Given the description of an element on the screen output the (x, y) to click on. 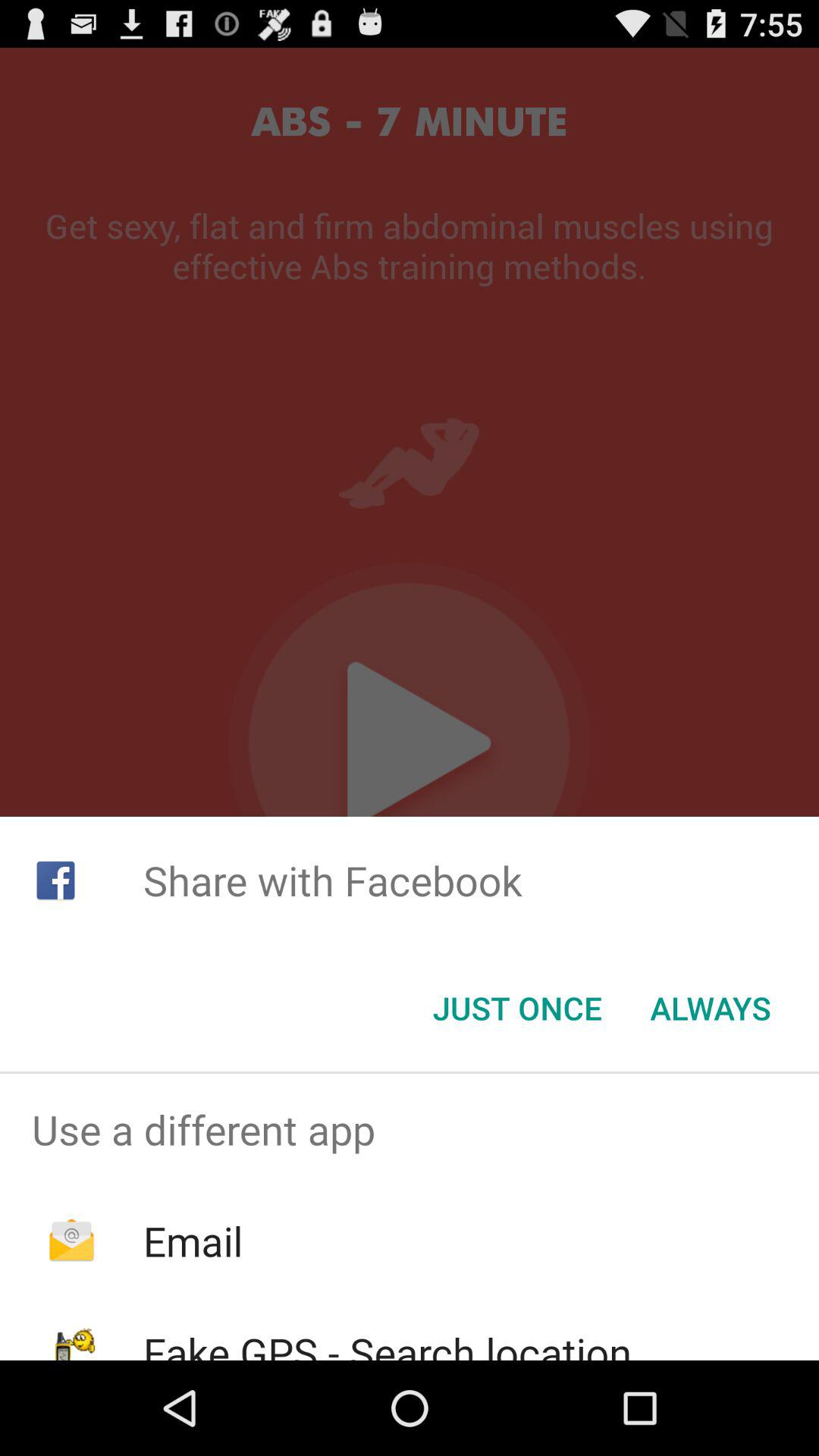
choose the use a different (409, 1129)
